Given the description of an element on the screen output the (x, y) to click on. 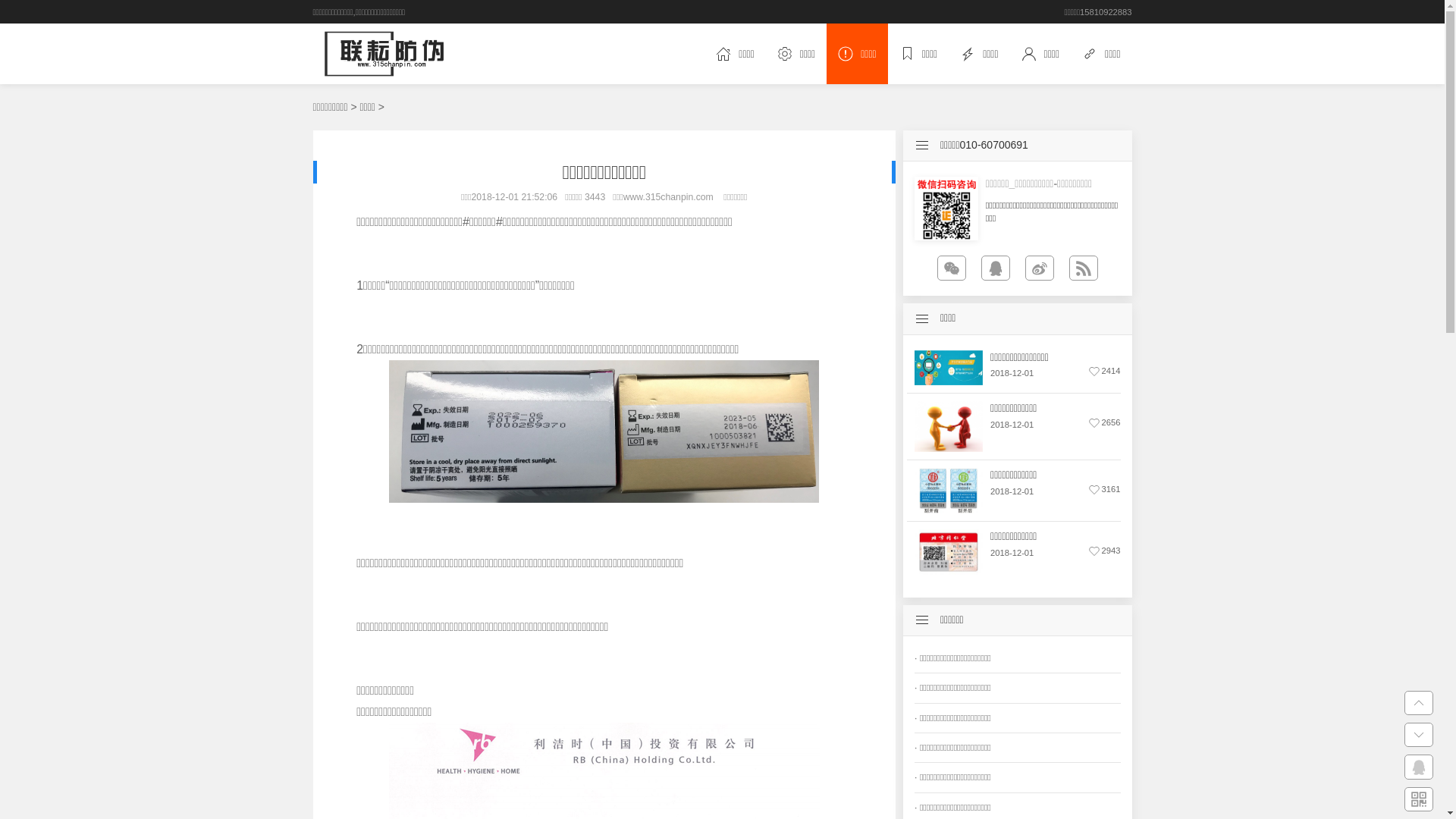
15810922883 Element type: text (1105, 11)
